Given the description of an element on the screen output the (x, y) to click on. 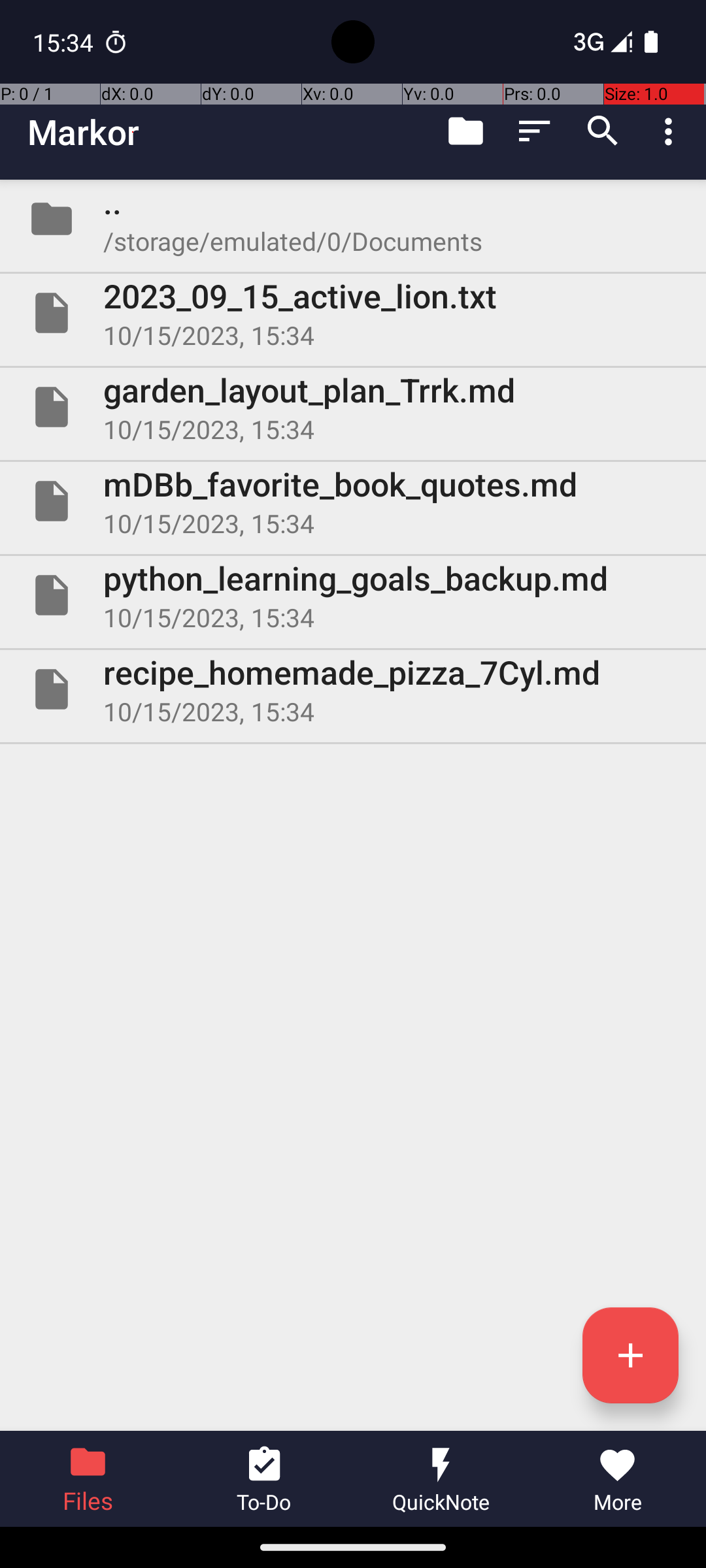
File 2023_09_15_active_lion.txt  Element type: android.widget.LinearLayout (353, 312)
File garden_layout_plan_Trrk.md  Element type: android.widget.LinearLayout (353, 406)
File mDBb_favorite_book_quotes.md  Element type: android.widget.LinearLayout (353, 500)
File python_learning_goals_backup.md  Element type: android.widget.LinearLayout (353, 594)
File recipe_homemade_pizza_7Cyl.md  Element type: android.widget.LinearLayout (353, 689)
